Given the description of an element on the screen output the (x, y) to click on. 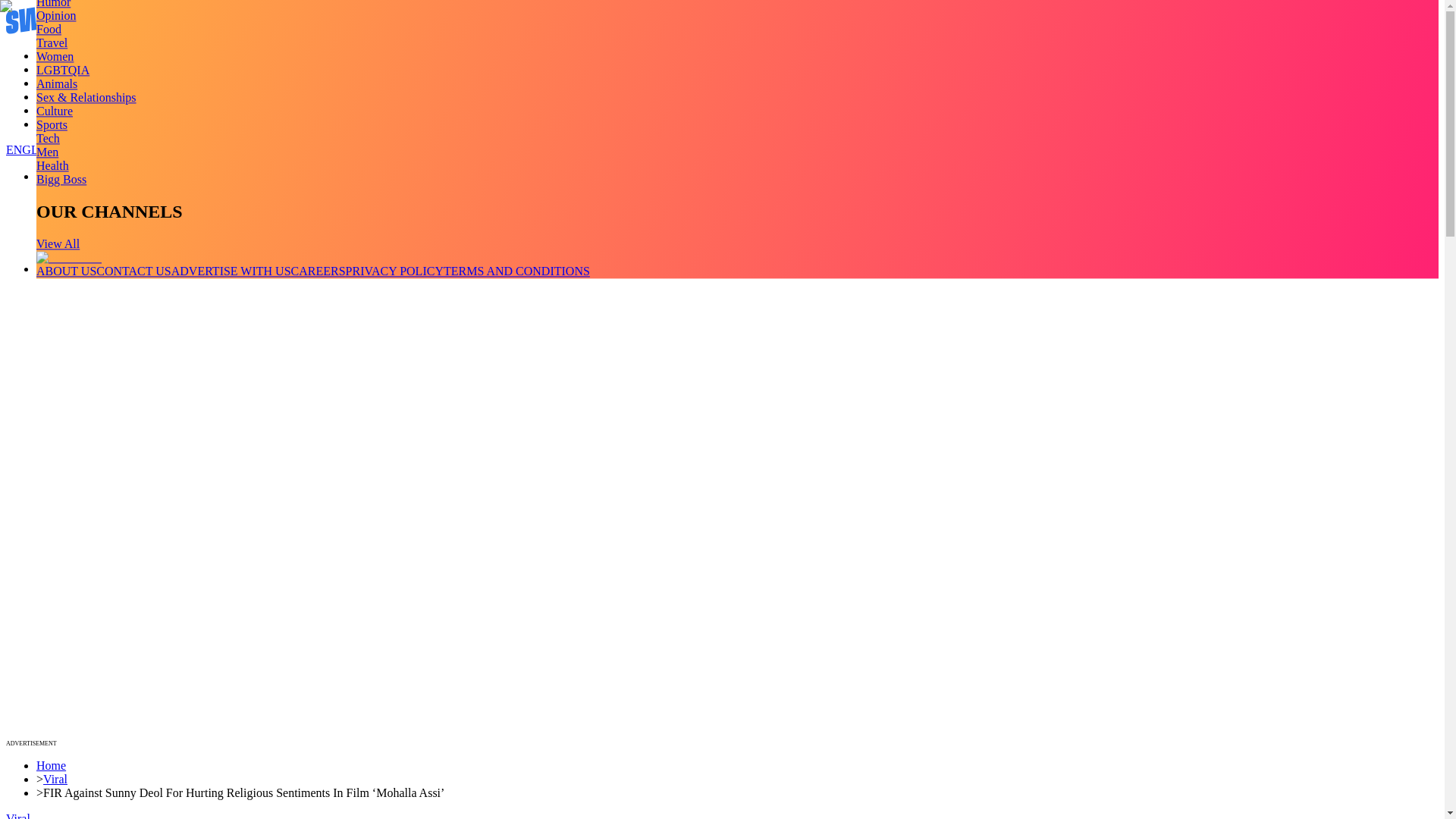
Sports (51, 124)
LGBTQIA (62, 69)
Animals (56, 83)
Memes (53, 110)
ABOUT US (66, 270)
Culture (54, 110)
Opinion (55, 15)
Travel (51, 42)
ADVERTISE WITH US (231, 270)
ENGLISH (31, 149)
Women (55, 56)
CONTACT US (133, 270)
Health (52, 164)
Humor (52, 4)
Bigg Boss (60, 178)
